Given the description of an element on the screen output the (x, y) to click on. 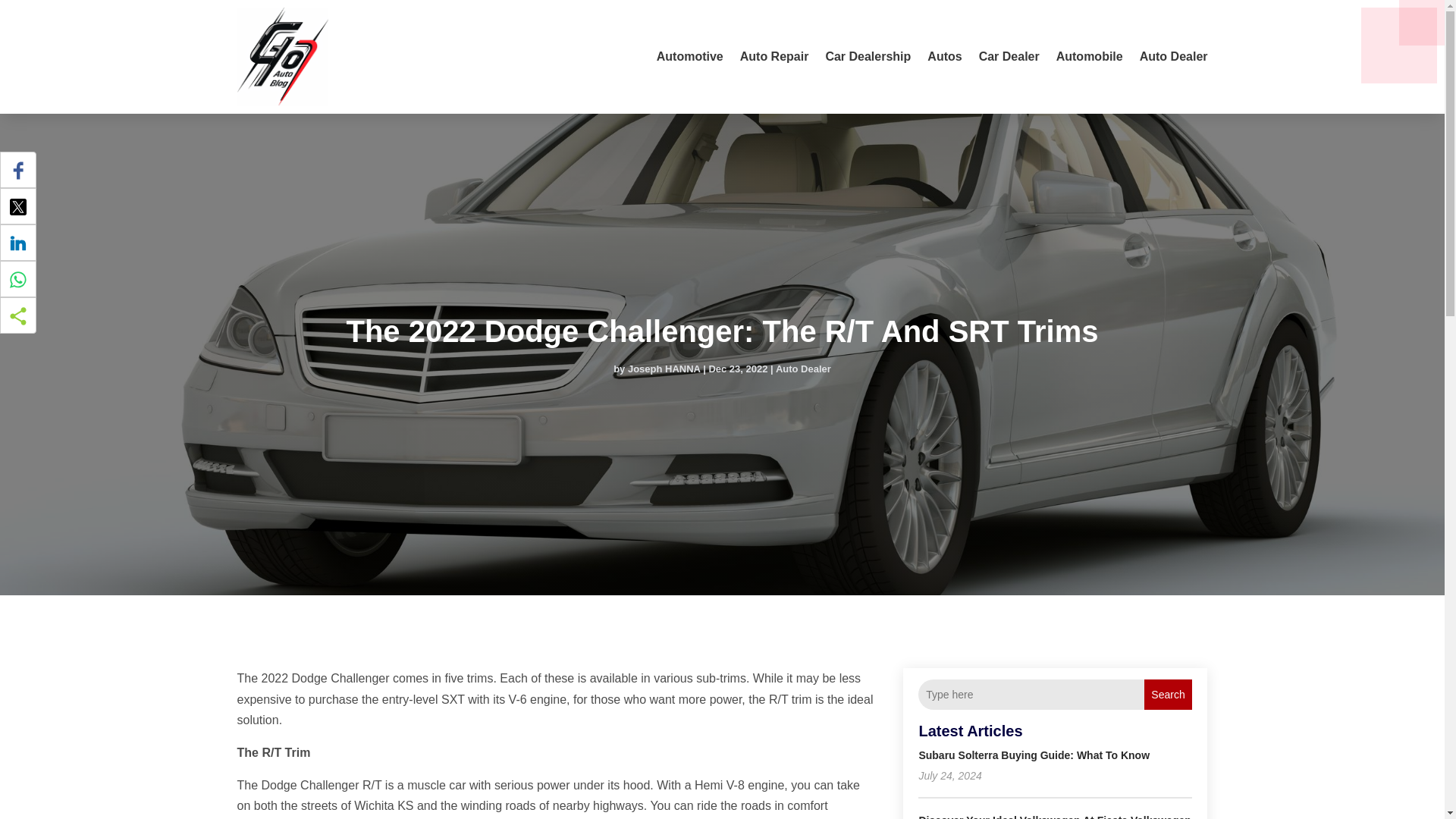
Posts by Joseph HANNA (663, 368)
Subaru Solterra Buying Guide: What To Know (1034, 755)
Search (1168, 694)
Discover Your Ideal Volkswagen At Fiesta Volkswagen (1054, 816)
Auto Dealer (803, 368)
Joseph HANNA (663, 368)
